Given the description of an element on the screen output the (x, y) to click on. 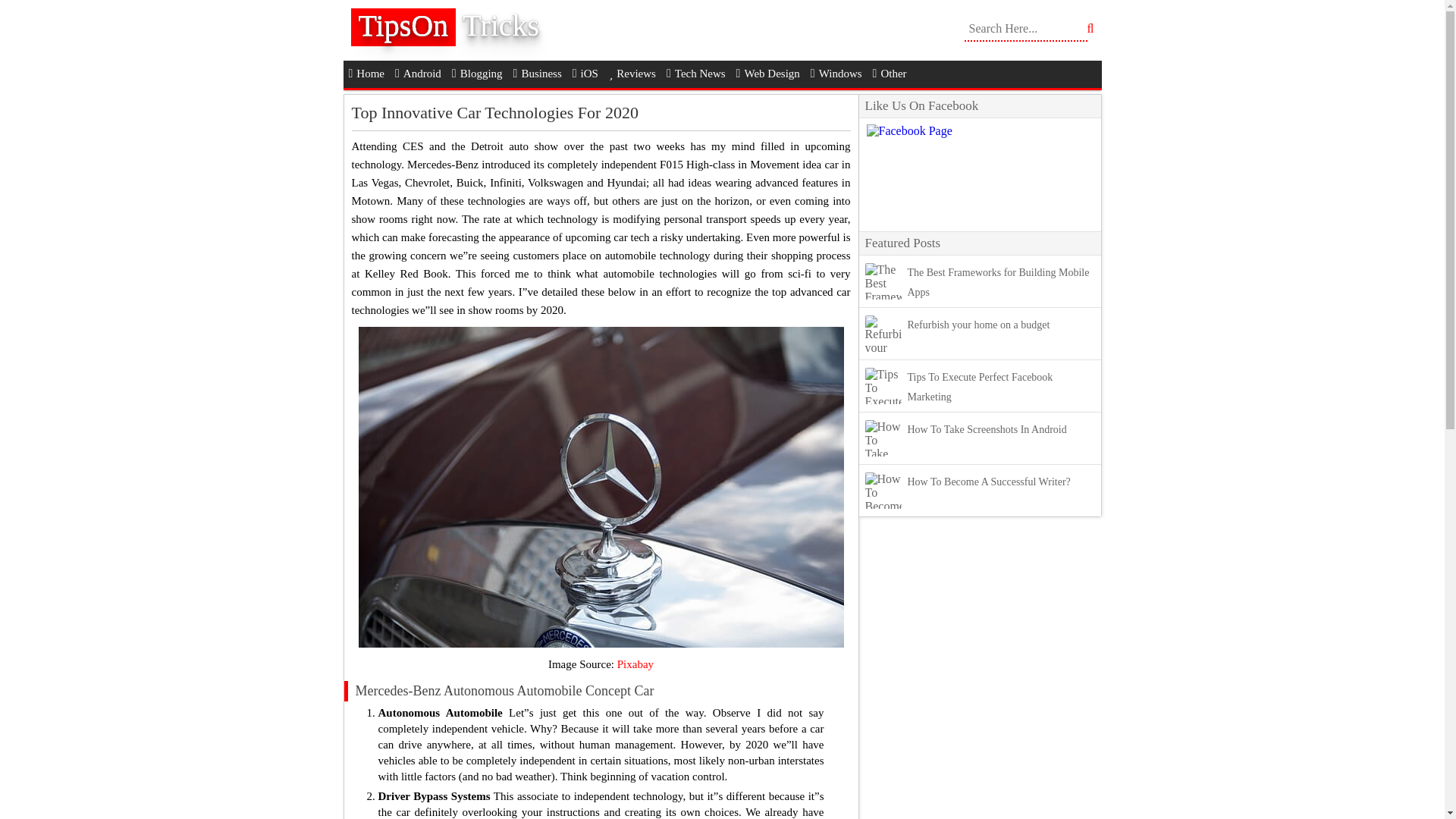
Windows (836, 72)
Tech News (695, 72)
Top Innovative Car Technologies For 2020 (495, 112)
Tips To Execute Perfect Facebook Marketing (979, 386)
Other (889, 72)
Home (366, 72)
TipsOn Tricks (456, 30)
The Best Frameworks for Building Mobile Apps (998, 282)
Refurbish your home on a budget (978, 324)
Web Design (767, 72)
iOS (585, 72)
Blogging (477, 72)
Pixabay (635, 664)
How To Become A Successful Writer? (988, 481)
Android (418, 72)
